Given the description of an element on the screen output the (x, y) to click on. 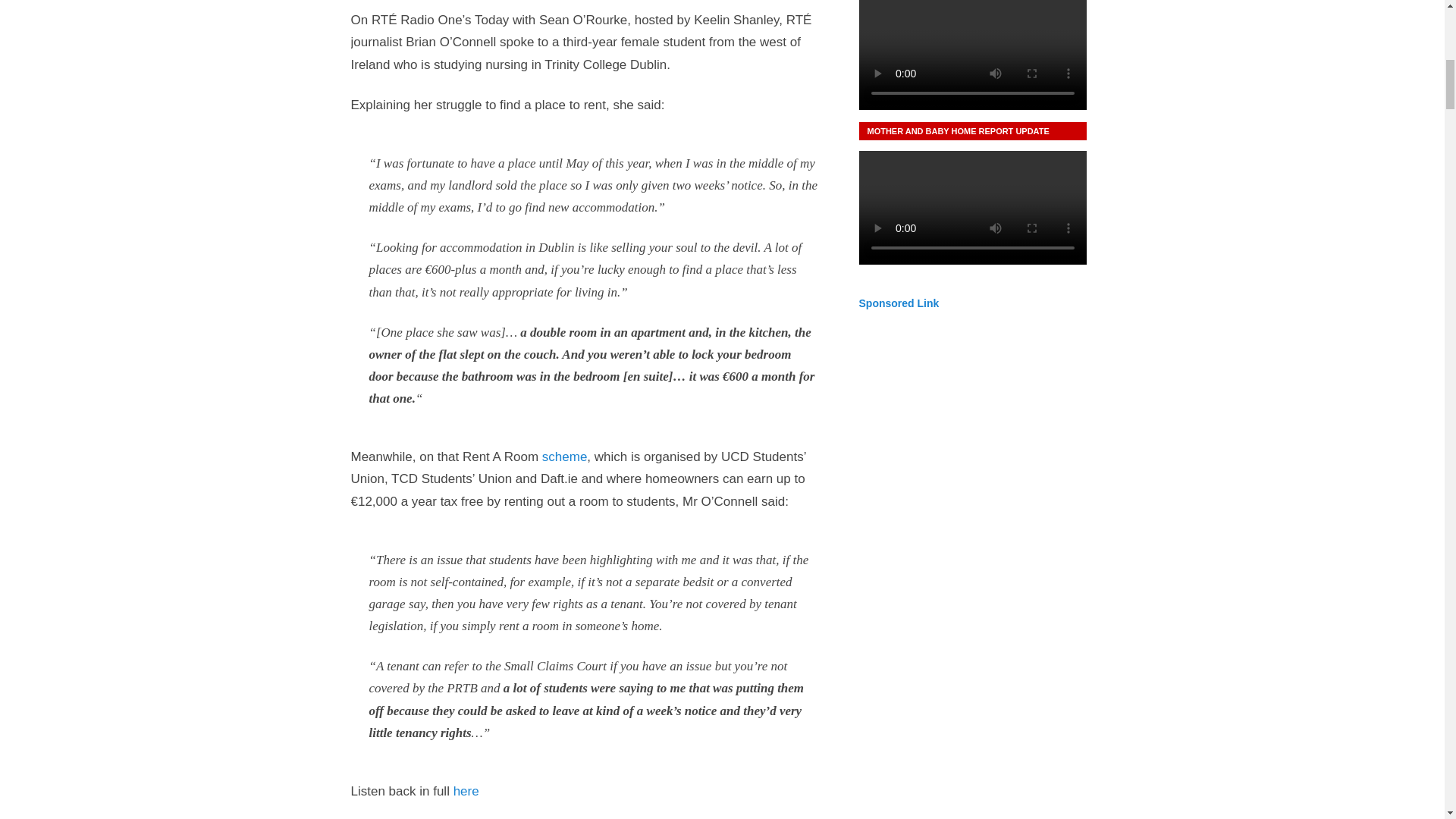
here (465, 790)
scheme (564, 456)
